Given the description of an element on the screen output the (x, y) to click on. 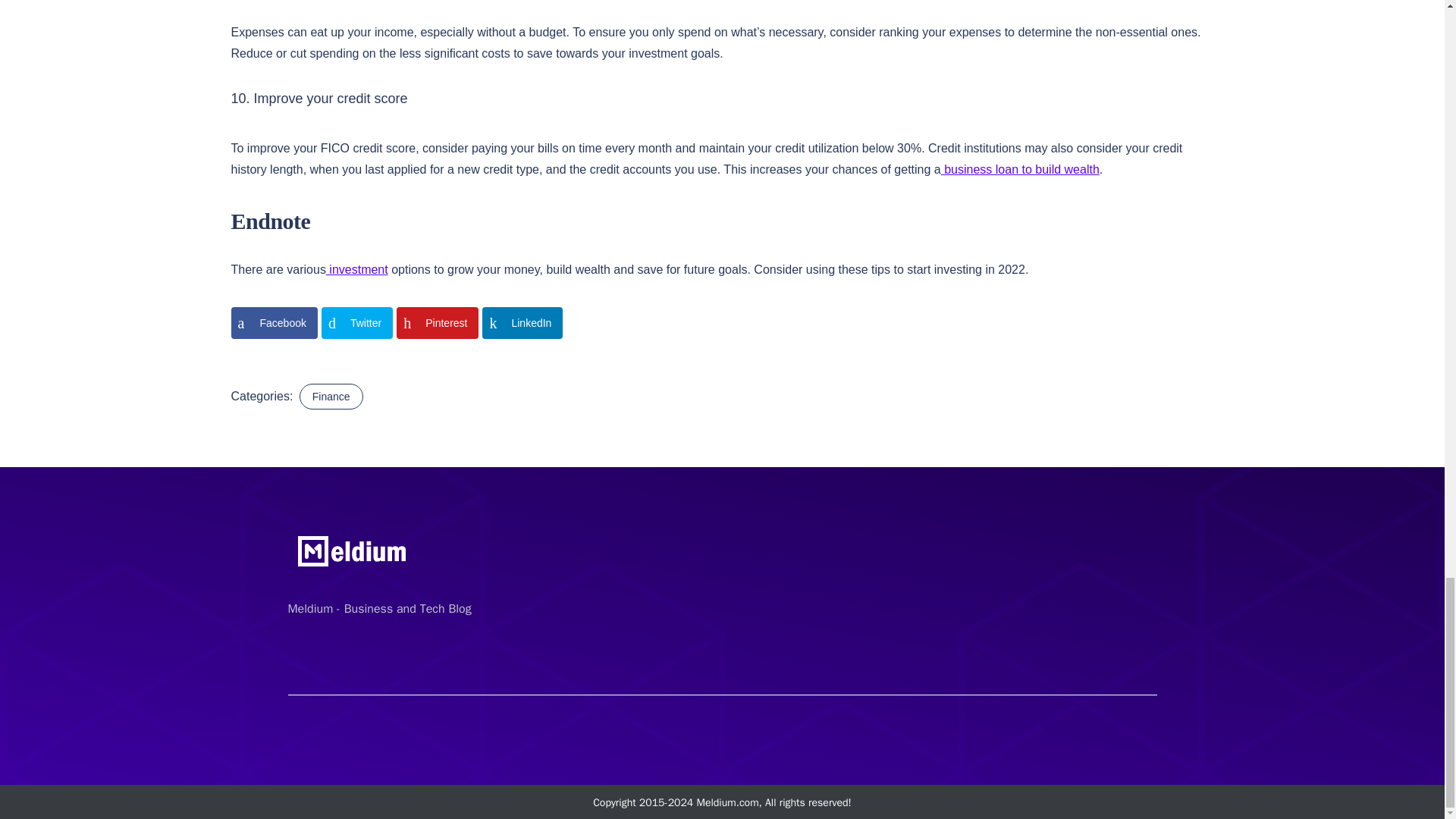
Share on Facebook (273, 323)
Share on Pinterest (437, 323)
Share on LinkedIn (521, 323)
Share on Twitter (357, 323)
